Given the description of an element on the screen output the (x, y) to click on. 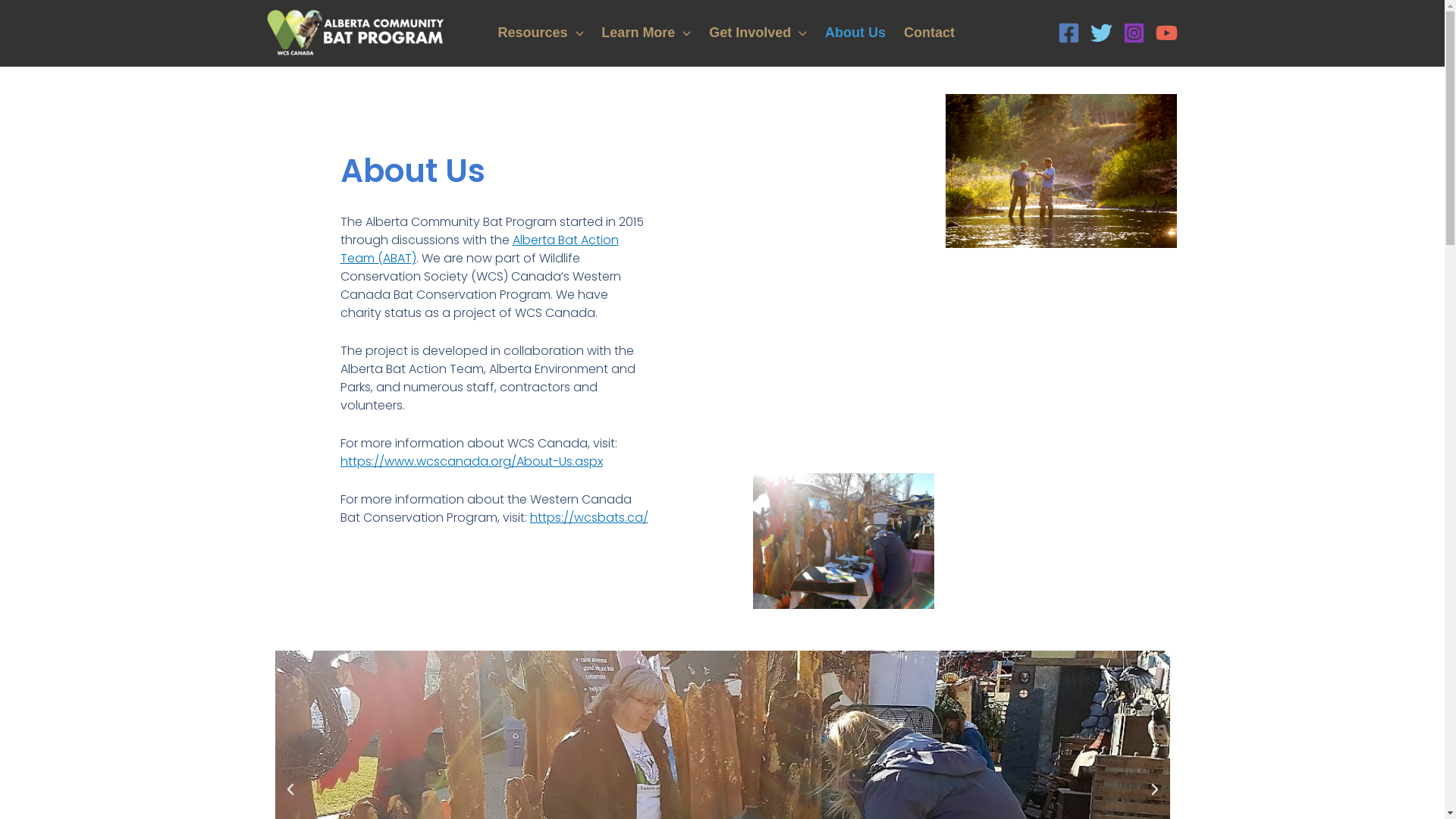
https://wcsbats.ca/ Element type: text (589, 517)
Learn More Element type: text (645, 32)
Contact Element type: text (928, 32)
Resources Element type: text (540, 32)
Alberta Bat Action Team (ABAT) Element type: text (479, 248)
About Us Element type: text (854, 32)
Get Involved Element type: text (757, 32)
https://www.wcscanada.org/About-Us.aspx Element type: text (471, 461)
